Given the description of an element on the screen output the (x, y) to click on. 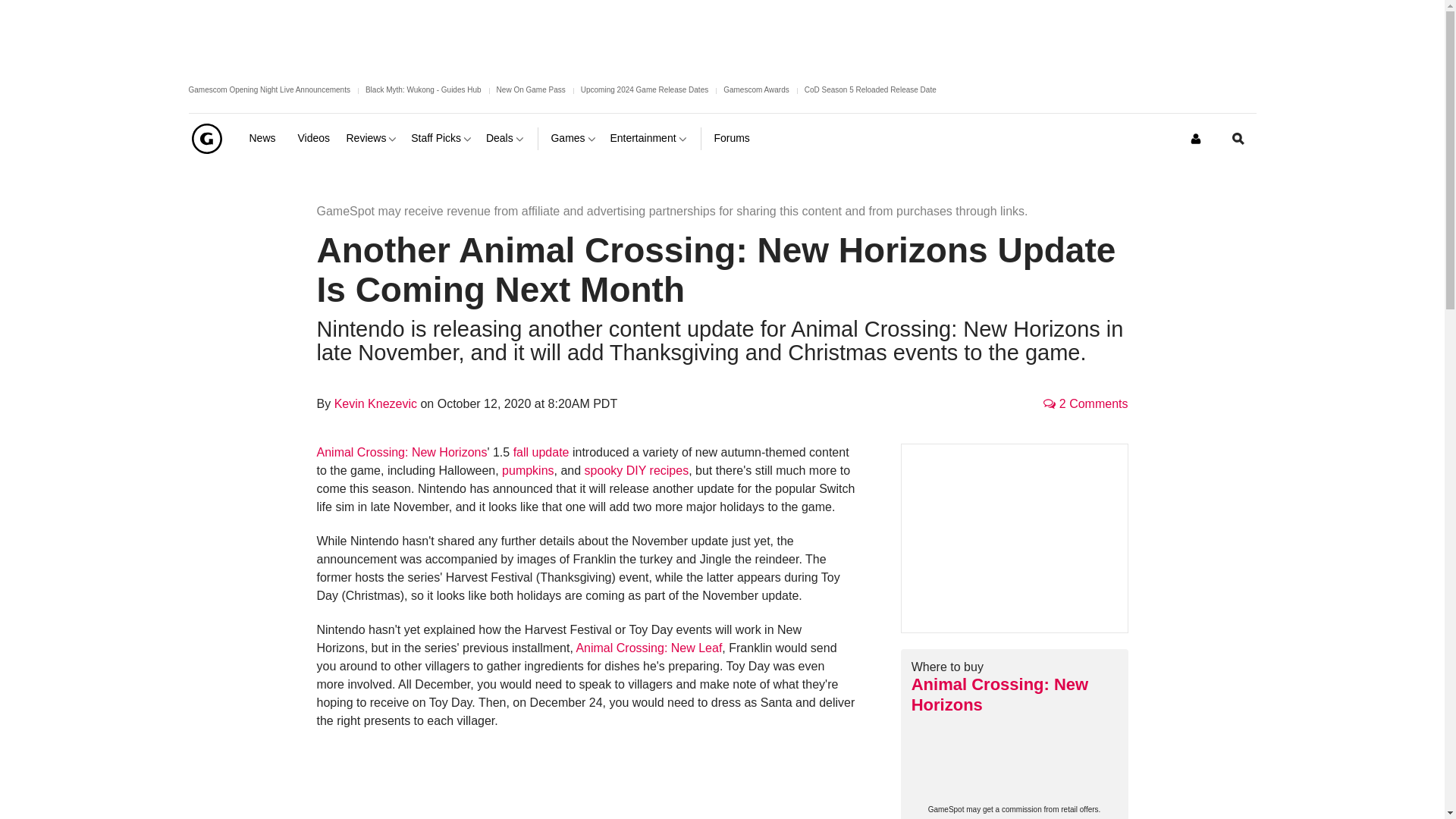
News (266, 138)
Black Myth: Wukong - Guides Hub (423, 89)
GameSpot (205, 138)
Deals (505, 138)
CoD Season 5 Reloaded Release Date (870, 89)
New On Game Pass (531, 89)
Videos (315, 138)
Staff Picks (442, 138)
Reviews (372, 138)
